Given the description of an element on the screen output the (x, y) to click on. 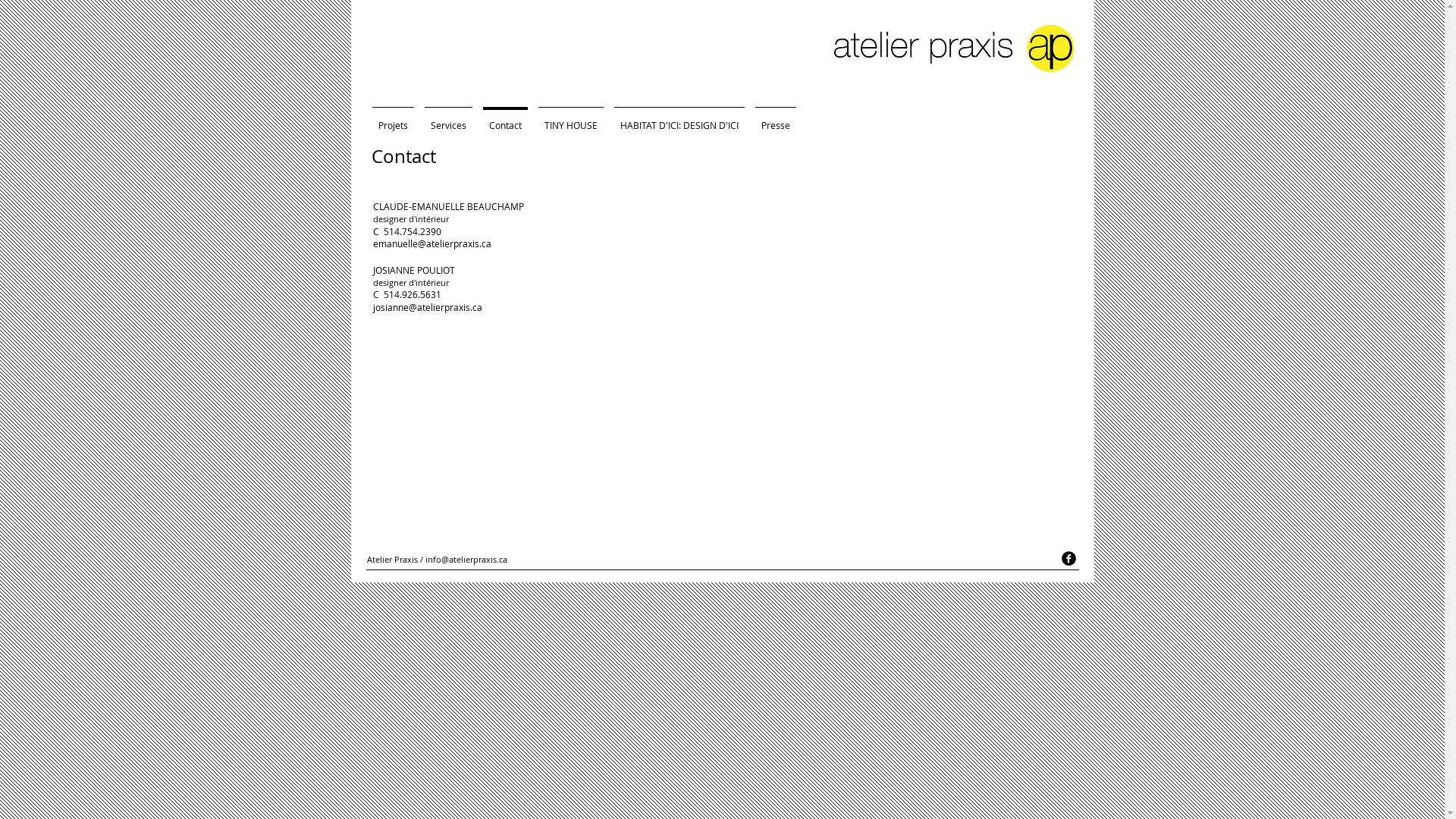
Projets Element type: text (393, 117)
Services Element type: text (447, 117)
info@atelierpraxis.ca Element type: text (465, 558)
Contact Element type: text (505, 117)
Presse Element type: text (774, 117)
HABITAT D'ICI: DESIGN D'ICI Element type: text (678, 117)
josianne@atelierpraxis.ca Element type: text (427, 307)
emanuelle@atelierpraxis.ca Element type: text (432, 243)
TINY HOUSE Element type: text (570, 117)
